Given the description of an element on the screen output the (x, y) to click on. 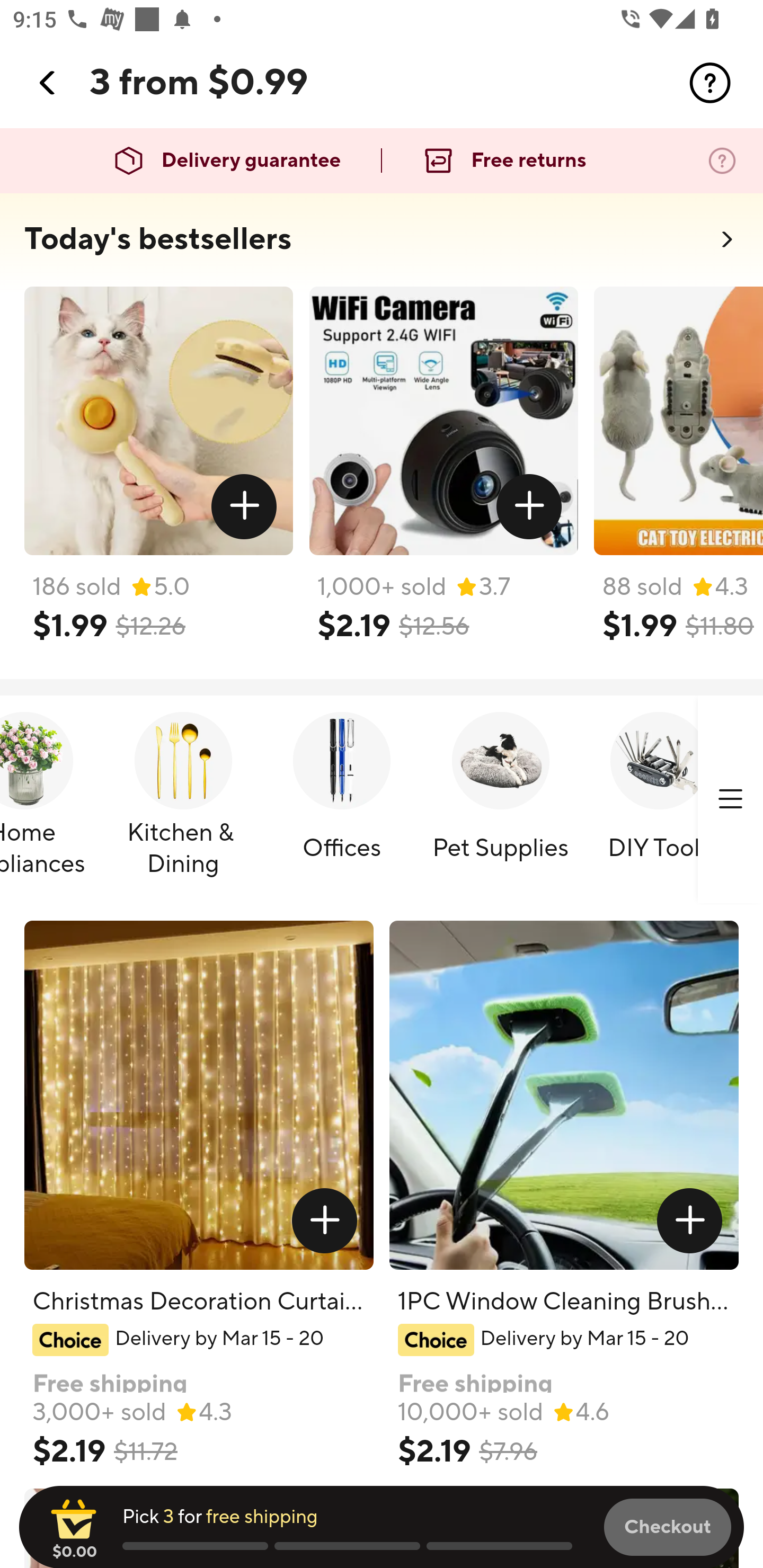
 (710, 82)
 (48, 82)
Today's bestsellers  Today's bestsellers  (381, 244)
Today's bestsellers (157, 239)
 (244, 506)
 (529, 506)
 (730, 799)
300x300.png_ Home Appliances (48, 800)
300x300.png_ Kitchen & Dining (183, 800)
300x300.png_ Offices (341, 800)
300x300.png_ Pet Supplies (500, 800)
300x300.png_ DIY Tools (658, 800)
 (323, 1220)
 (689, 1220)
